Given the description of an element on the screen output the (x, y) to click on. 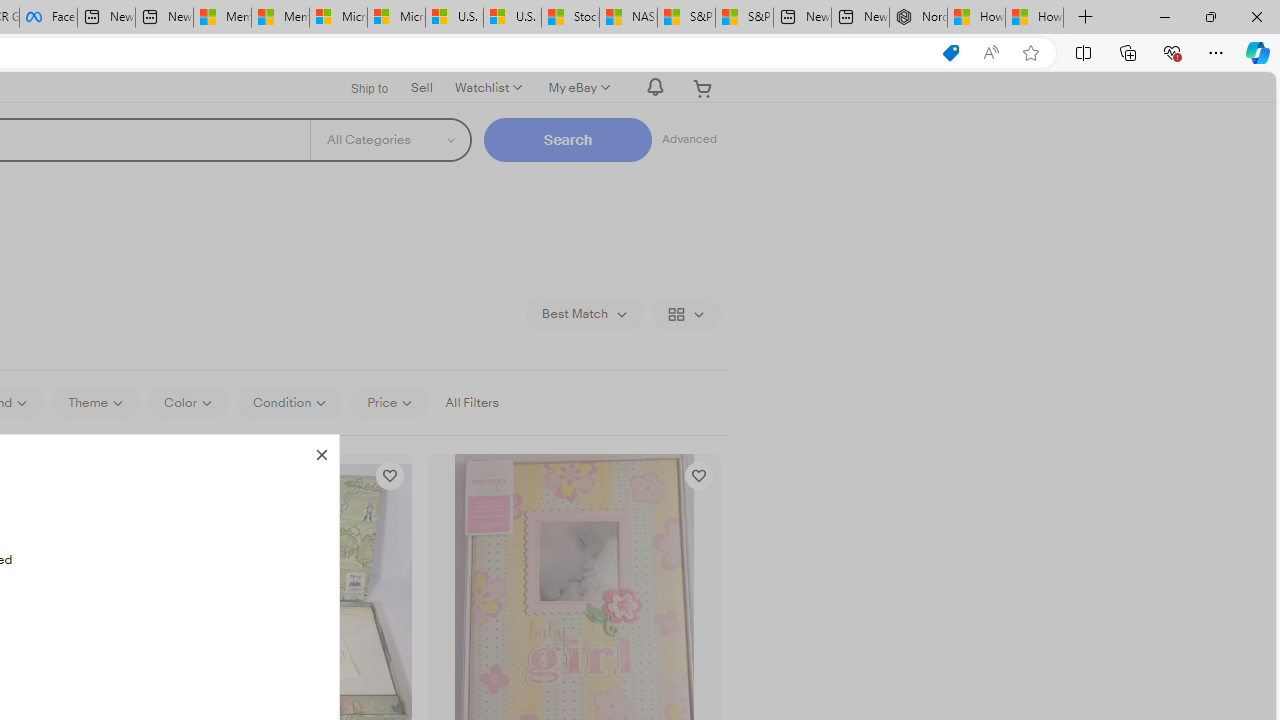
New Tab (1085, 17)
Facebook (48, 17)
How to Use a Monitor With Your Closed Laptop (1034, 17)
Close (321, 451)
S&P 500, Nasdaq end lower, weighed by Nvidia dip | Watch (744, 17)
